Given the description of an element on the screen output the (x, y) to click on. 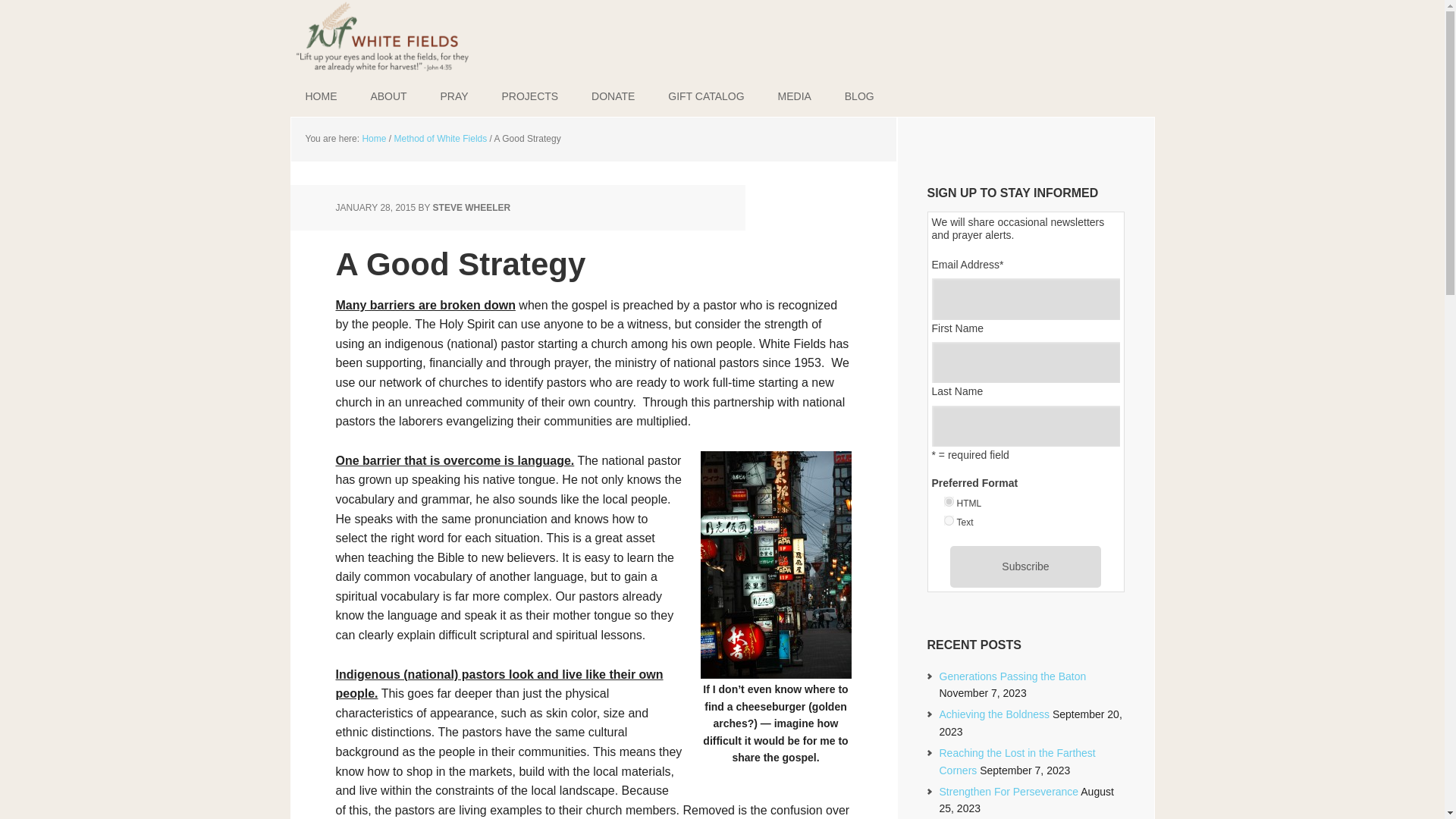
ABOUT (388, 96)
Method of White Fields (440, 138)
PROJECTS (529, 96)
html (948, 501)
HOME (320, 96)
MEDIA (794, 96)
BLOG (859, 96)
text (948, 520)
GIFT CATALOG (705, 96)
Subscribe (1025, 566)
